Given the description of an element on the screen output the (x, y) to click on. 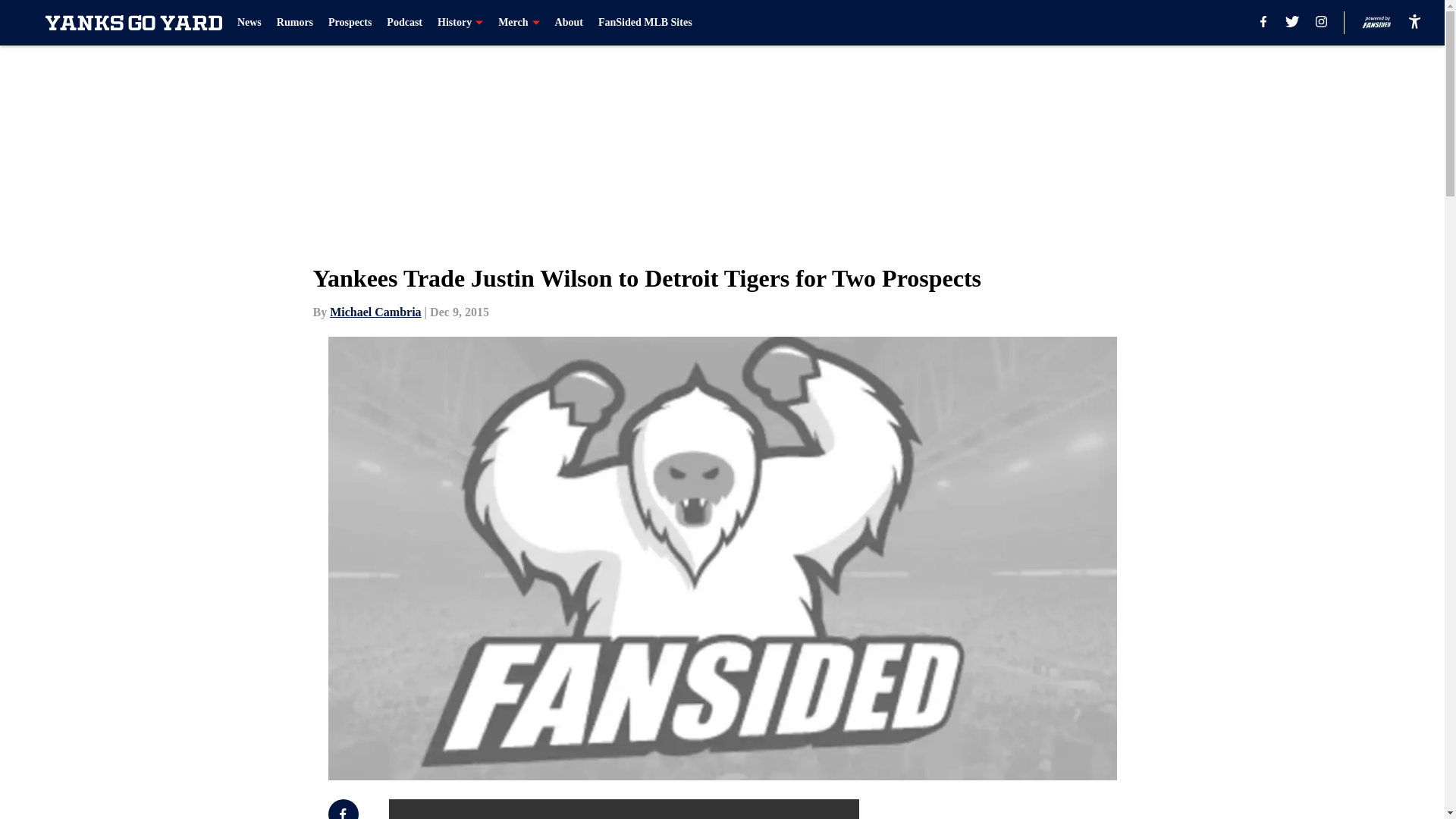
Podcast (404, 22)
Rumors (294, 22)
News (249, 22)
Prospects (350, 22)
FanSided MLB Sites (645, 22)
About (568, 22)
Michael Cambria (375, 311)
3rd party ad content (1047, 809)
